Given the description of an element on the screen output the (x, y) to click on. 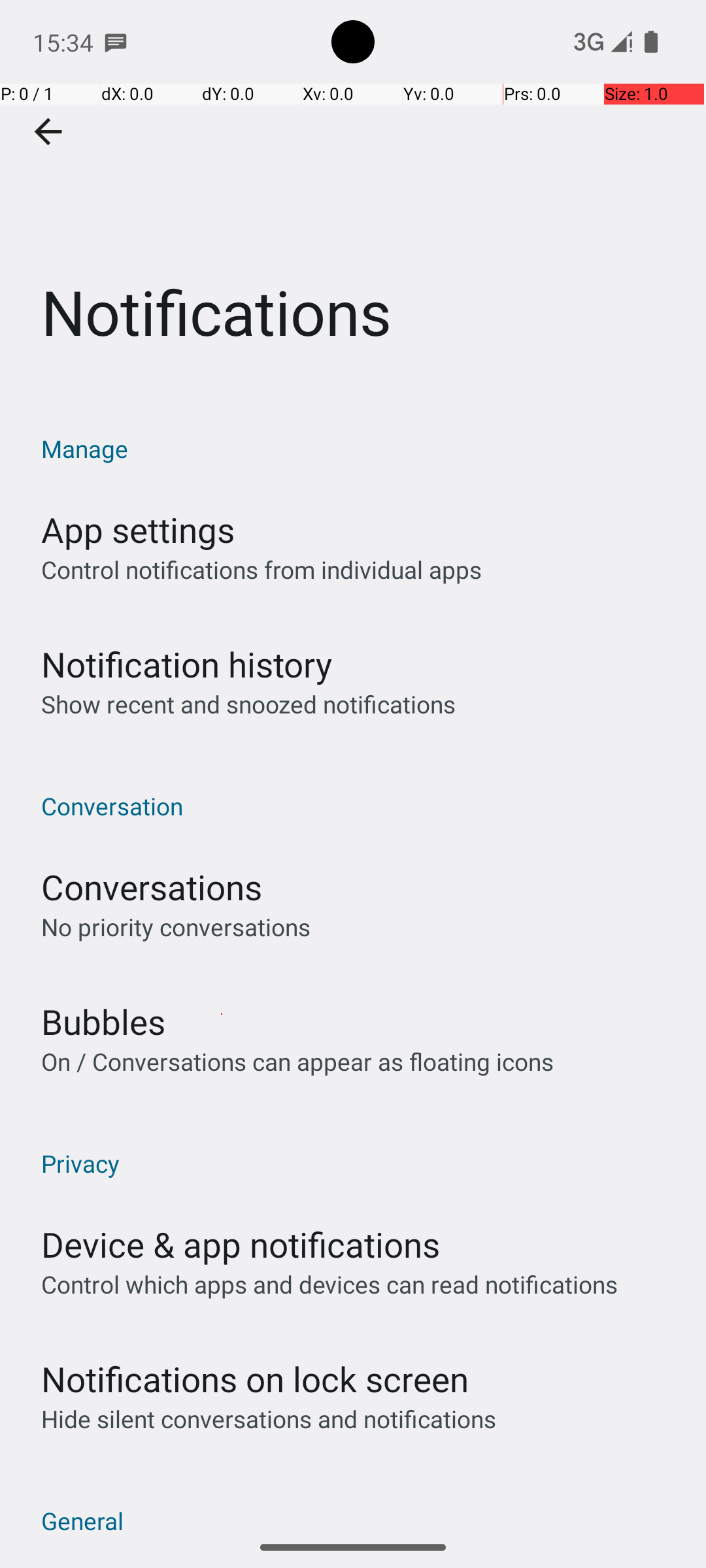
Manage Element type: android.widget.TextView (359, 448)
App settings Element type: android.widget.TextView (137, 529)
Control notifications from individual apps Element type: android.widget.TextView (261, 569)
Notification history Element type: android.widget.TextView (186, 663)
Show recent and snoozed notifications Element type: android.widget.TextView (248, 703)
Conversation Element type: android.widget.TextView (359, 805)
Conversations Element type: android.widget.TextView (151, 886)
No priority conversations Element type: android.widget.TextView (175, 926)
Bubbles Element type: android.widget.TextView (103, 1021)
On / Conversations can appear as floating icons Element type: android.widget.TextView (297, 1061)
Privacy Element type: android.widget.TextView (359, 1162)
Device & app notifications Element type: android.widget.TextView (240, 1244)
Control which apps and devices can read notifications Element type: android.widget.TextView (329, 1283)
Notifications on lock screen Element type: android.widget.TextView (254, 1378)
Hide silent conversations and notifications Element type: android.widget.TextView (268, 1418)
